Given the description of an element on the screen output the (x, y) to click on. 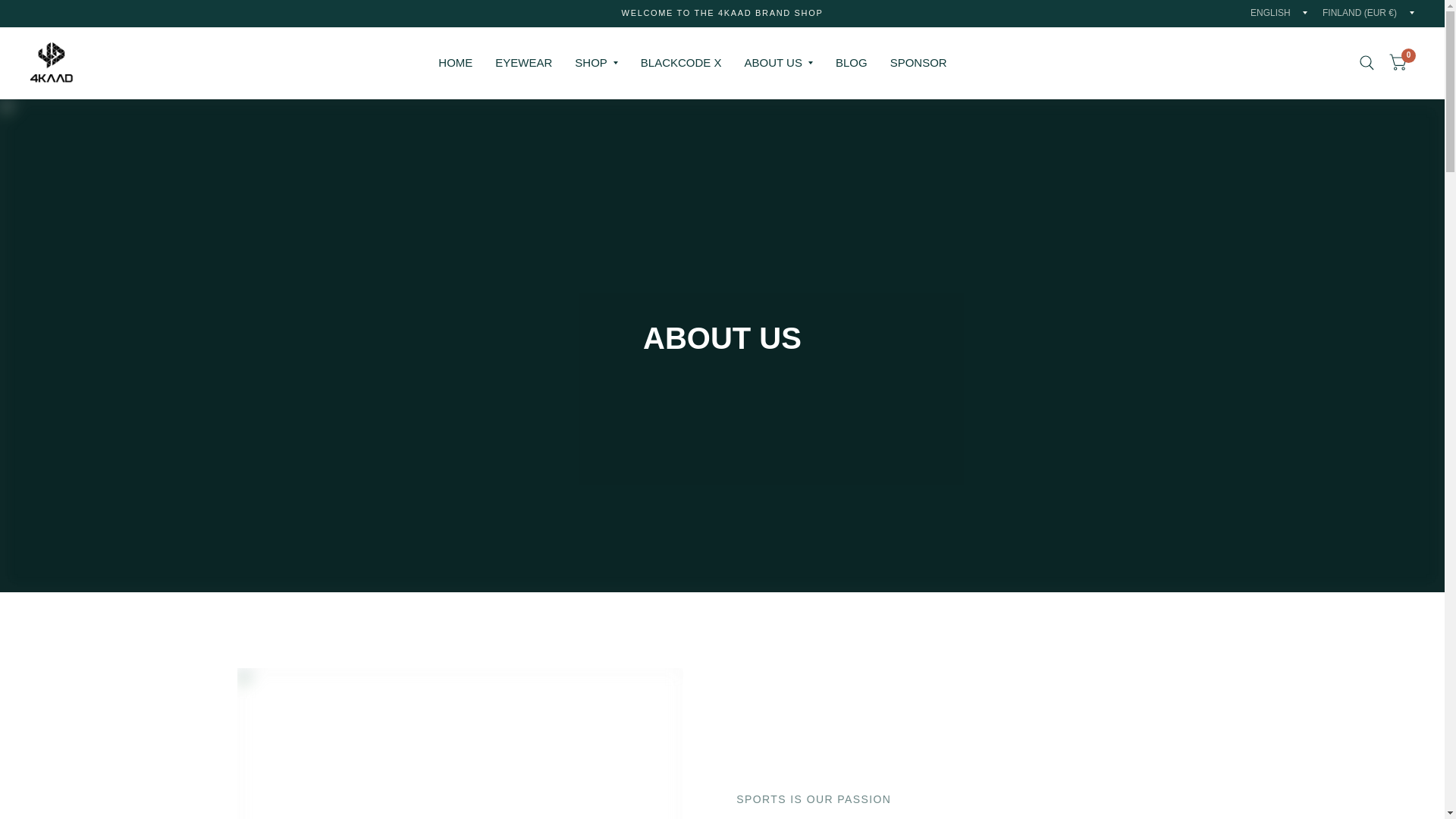
HOME (454, 62)
EYEWEAR (523, 62)
SHOP (596, 62)
